Given the description of an element on the screen output the (x, y) to click on. 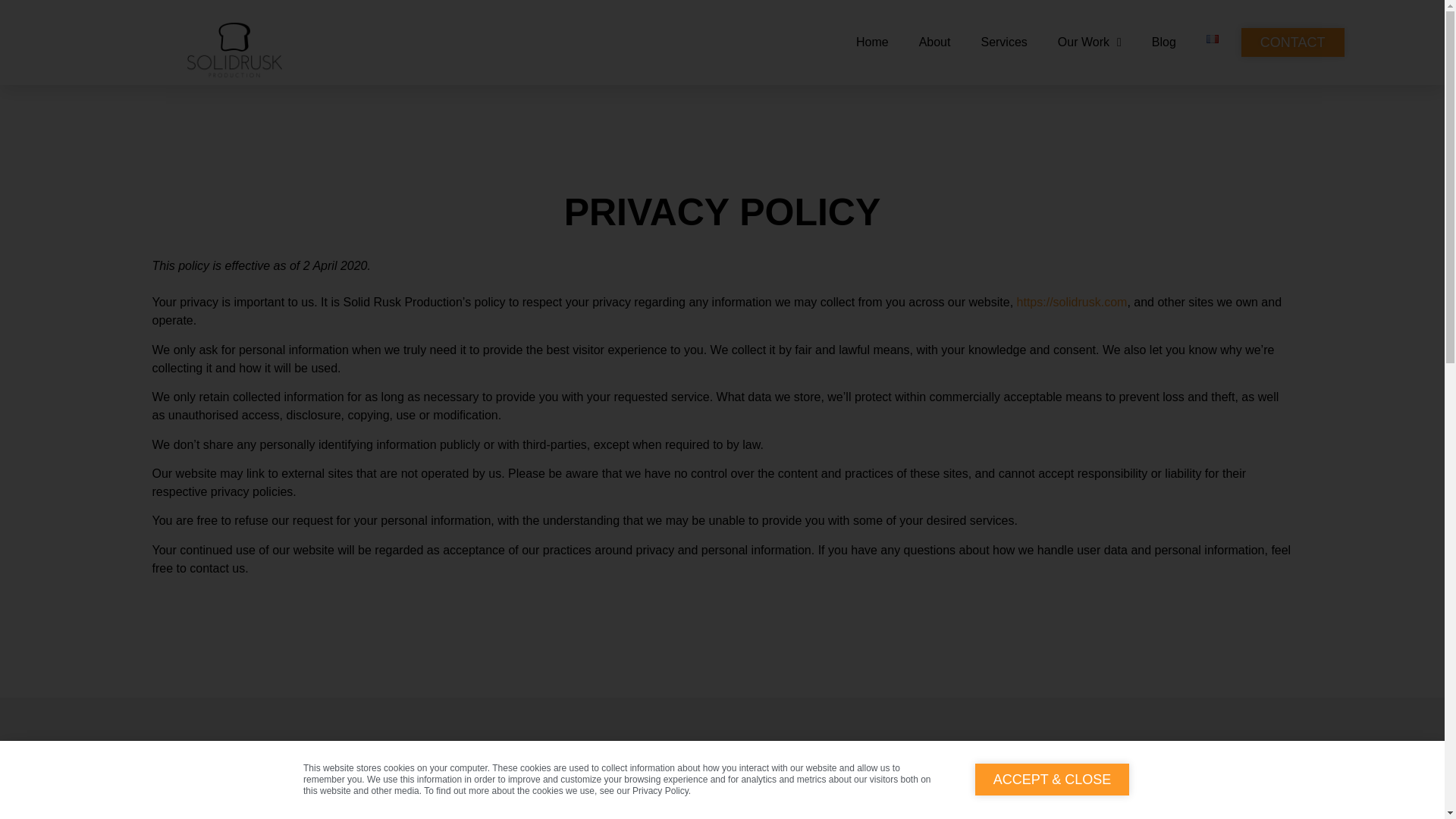
About (935, 42)
Our Work (1089, 42)
Blog (1164, 42)
Services (1003, 42)
Home (872, 42)
CONTACT (1292, 41)
